Given the description of an element on the screen output the (x, y) to click on. 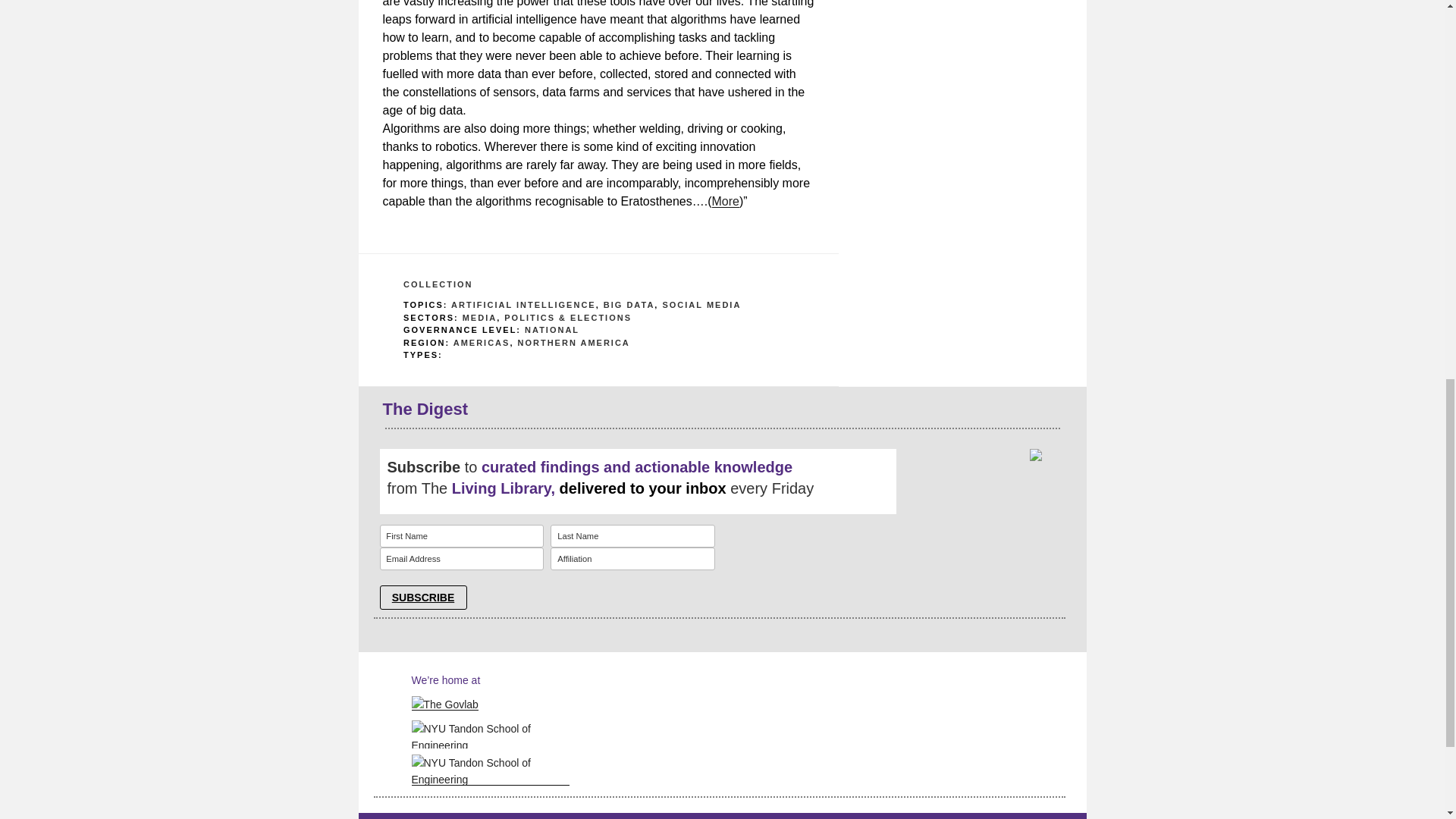
SOCIAL MEDIA (701, 304)
MEDIA (479, 317)
NATIONAL (551, 329)
AMERICAS (481, 342)
NORTHERN AMERICA (572, 342)
More (725, 201)
BIG DATA (629, 304)
SUBSCRIBE (421, 597)
COLLECTION (438, 284)
SUBSCRIBE (421, 597)
ARTIFICIAL INTELLIGENCE (523, 304)
